Given the description of an element on the screen output the (x, y) to click on. 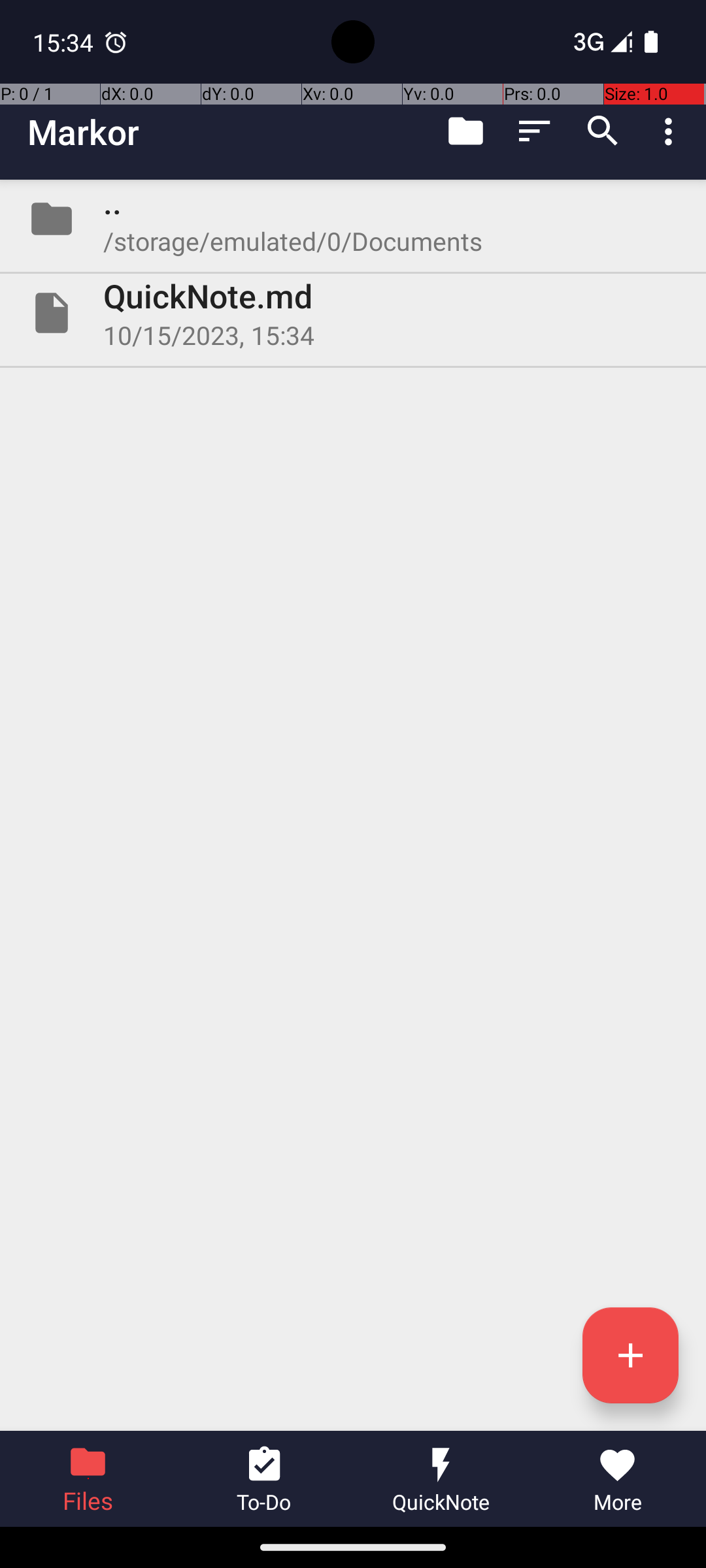
File QuickNote.md  Element type: android.widget.LinearLayout (353, 312)
